Given the description of an element on the screen output the (x, y) to click on. 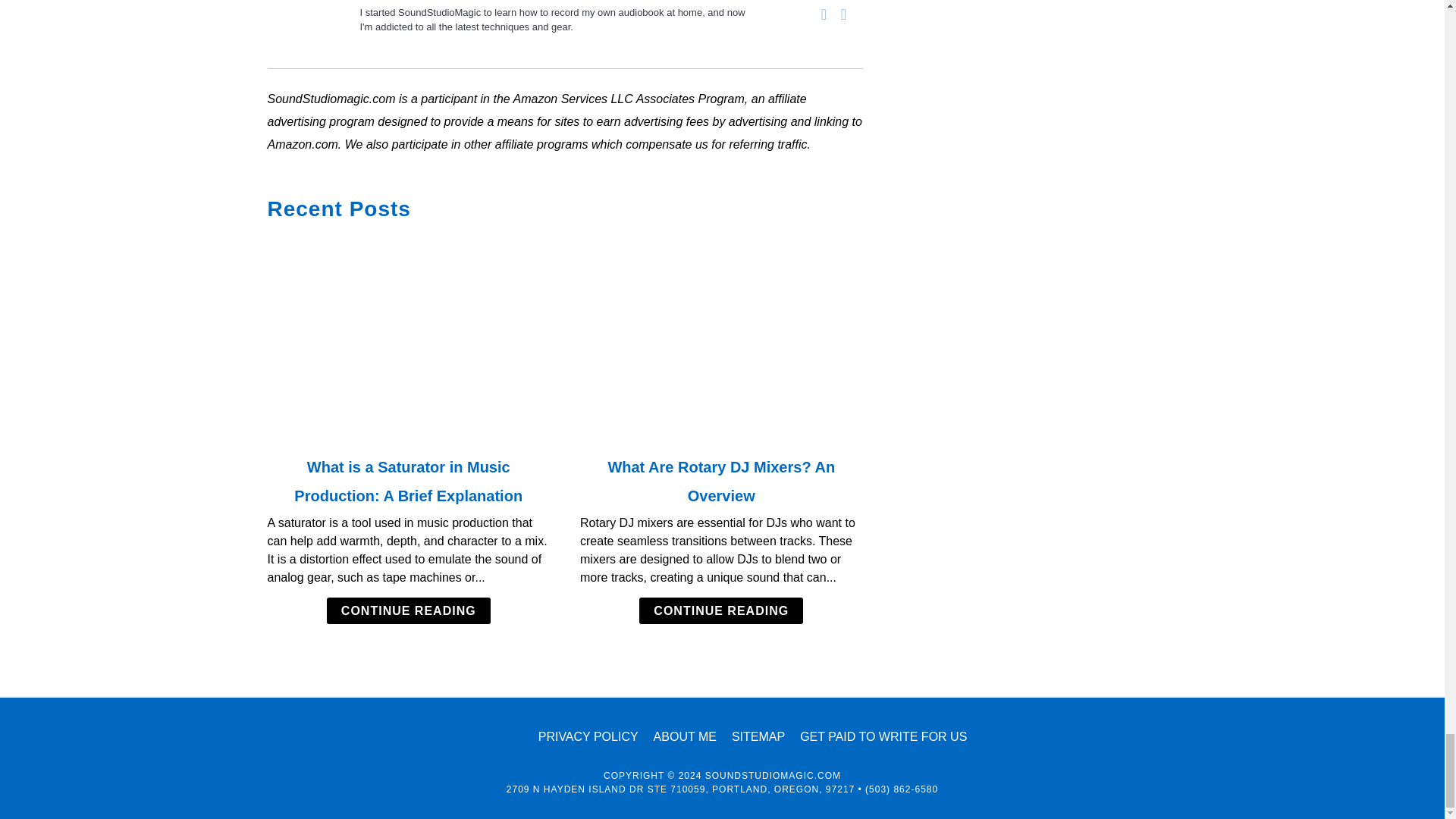
Juan Louder (306, 42)
Twitter (842, 13)
Facebook (822, 13)
